Given the description of an element on the screen output the (x, y) to click on. 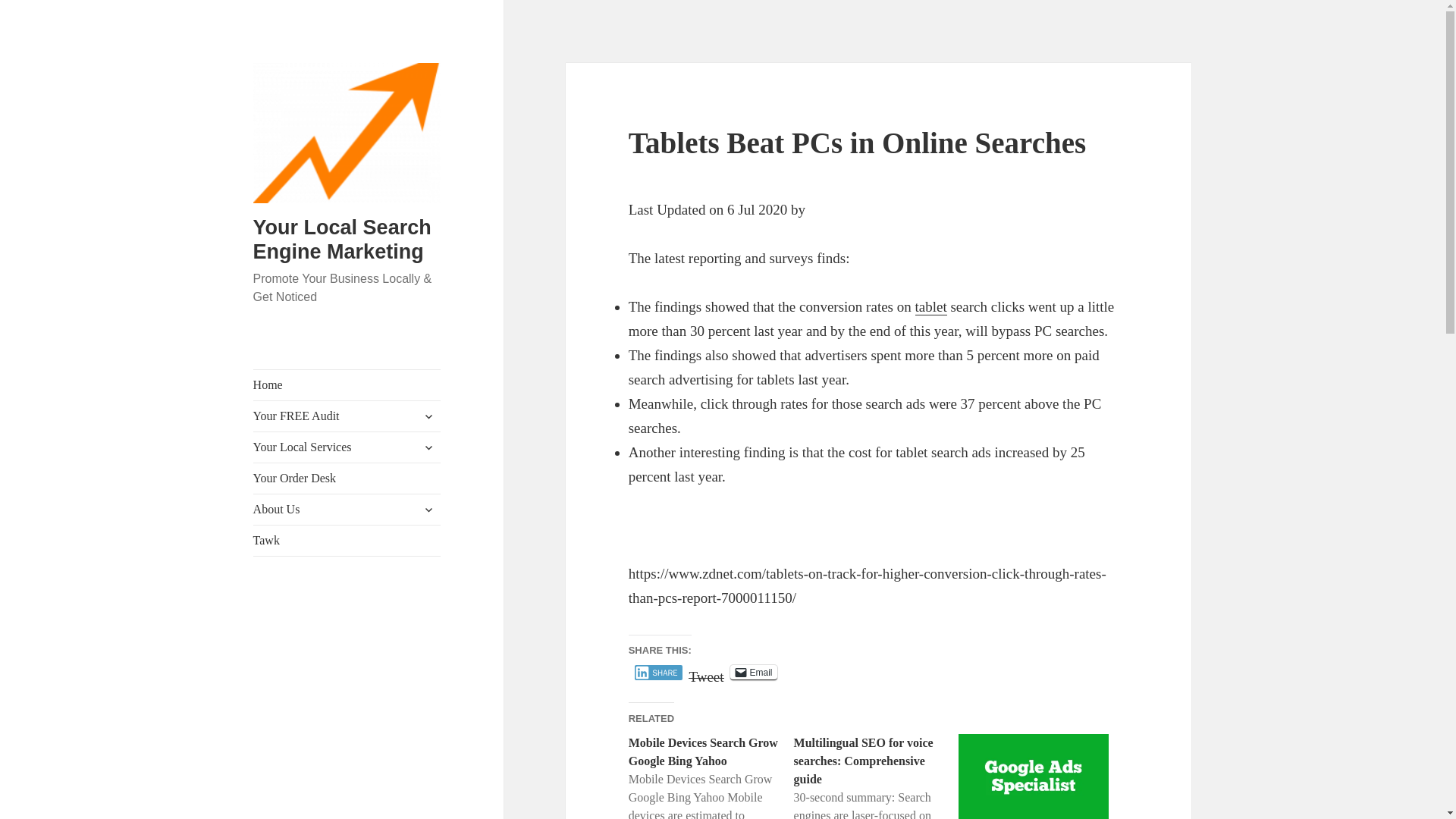
Click to email a link to a friend (753, 672)
Mobile Devices Search Grow Google Bing Yahoo (710, 776)
Tawk (347, 540)
Email (753, 672)
Your FREE Audit (347, 416)
Home (347, 385)
expand child menu (428, 509)
Your Local Services (347, 447)
expand child menu (428, 446)
Tweet (705, 671)
SHARE (658, 672)
Your Order Desk (347, 478)
Multilingual SEO for voice searches: Comprehensive guide (876, 776)
expand child menu (428, 416)
Mobile Devices Search Grow Google Bing Yahoo (702, 751)
